Given the description of an element on the screen output the (x, y) to click on. 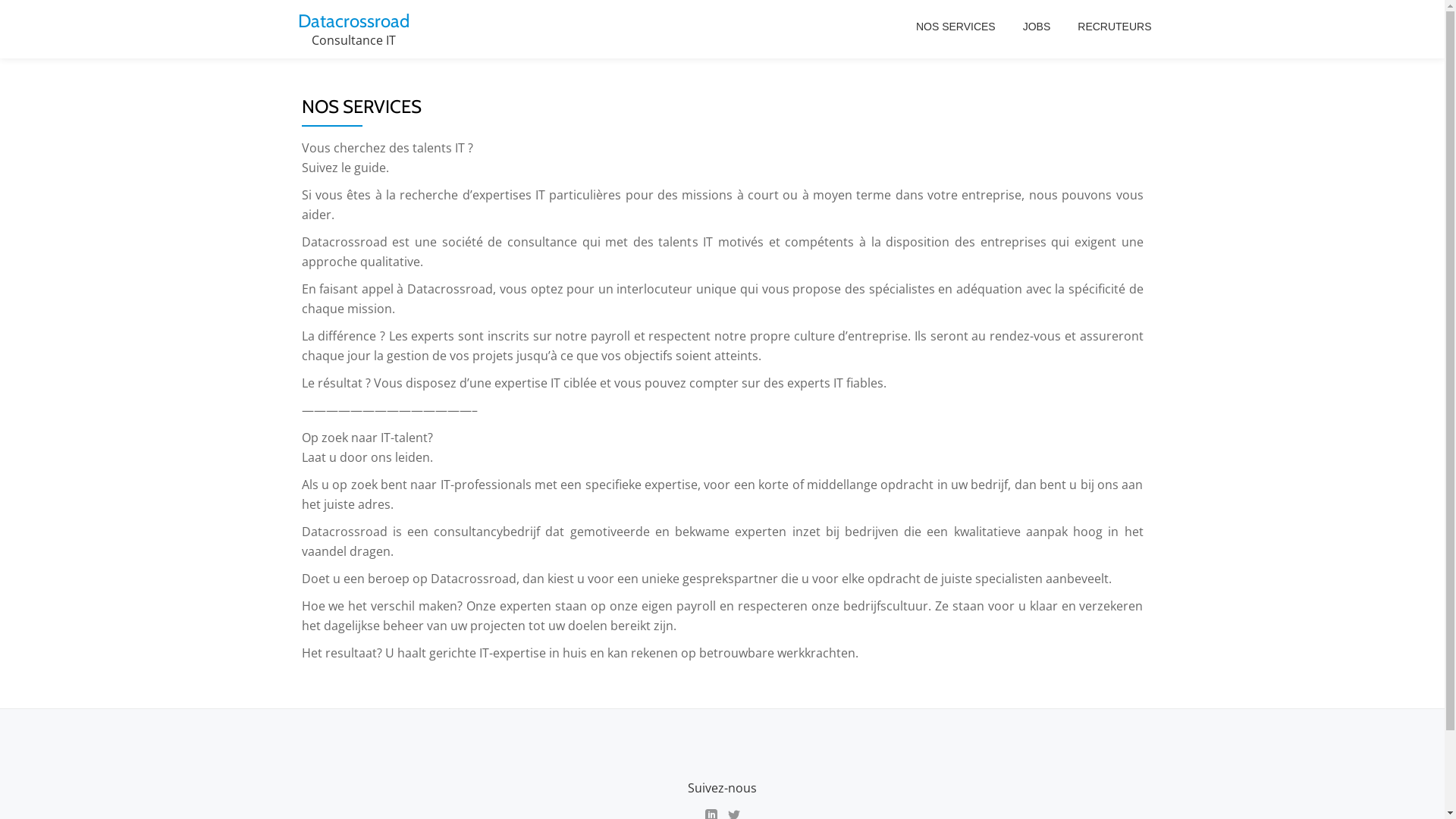
NOS SERVICES Element type: text (955, 26)
RECRUTEURS Element type: text (1114, 26)
JOBS Element type: text (1036, 26)
Datacrossroad Element type: text (352, 20)
Aller au contenu Element type: text (0, 30)
